Given the description of an element on the screen output the (x, y) to click on. 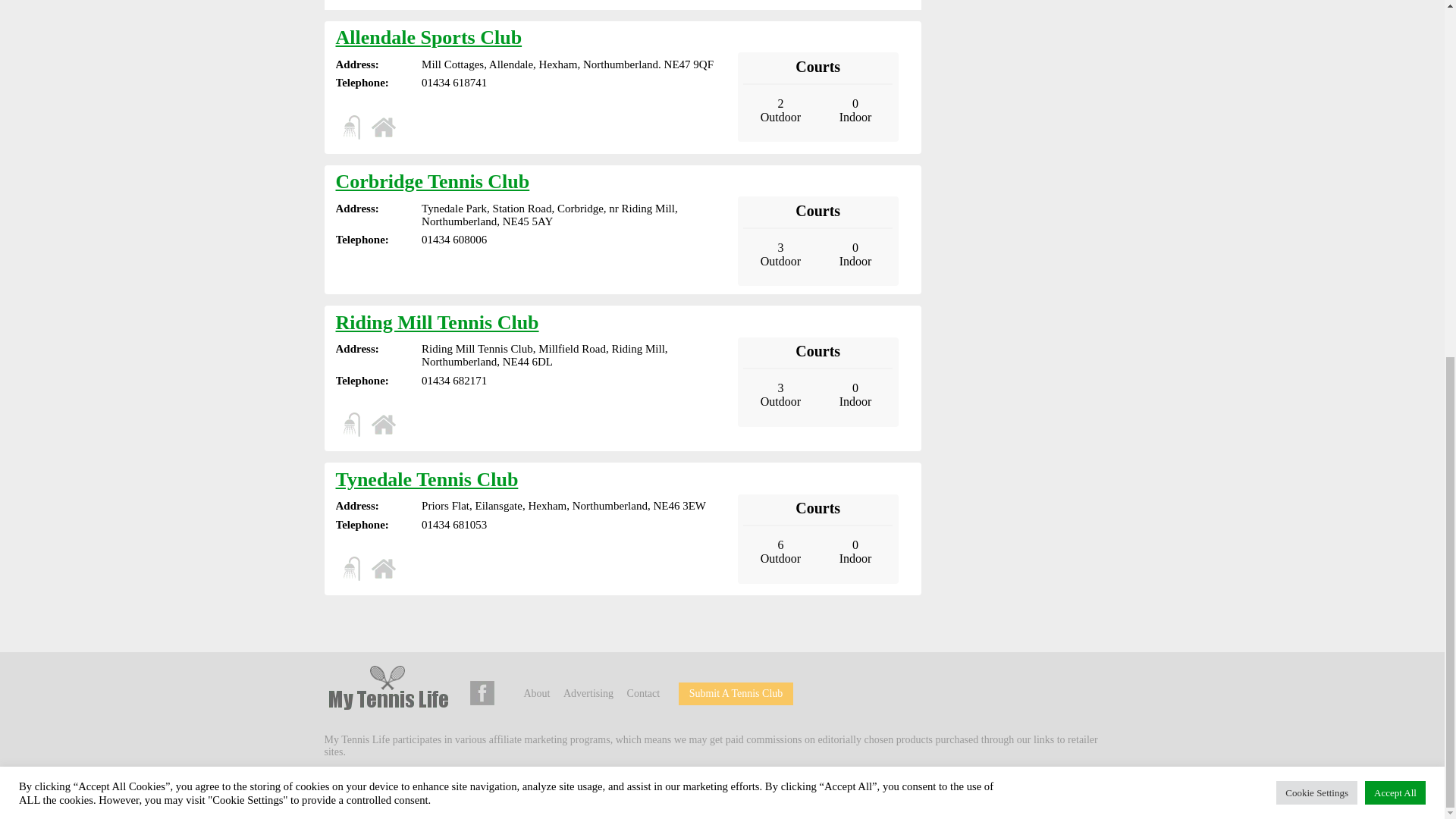
Clubhouse (383, 568)
Clubhouse (383, 424)
Accept All (1395, 164)
Changing Rooms (349, 568)
Changing Rooms (349, 424)
Allendale Sports Club (427, 37)
Riding Mill Tennis Club (436, 322)
Tynedale Tennis Club (426, 479)
Submit A Tennis Club (735, 693)
Contact (644, 693)
